Given the description of an element on the screen output the (x, y) to click on. 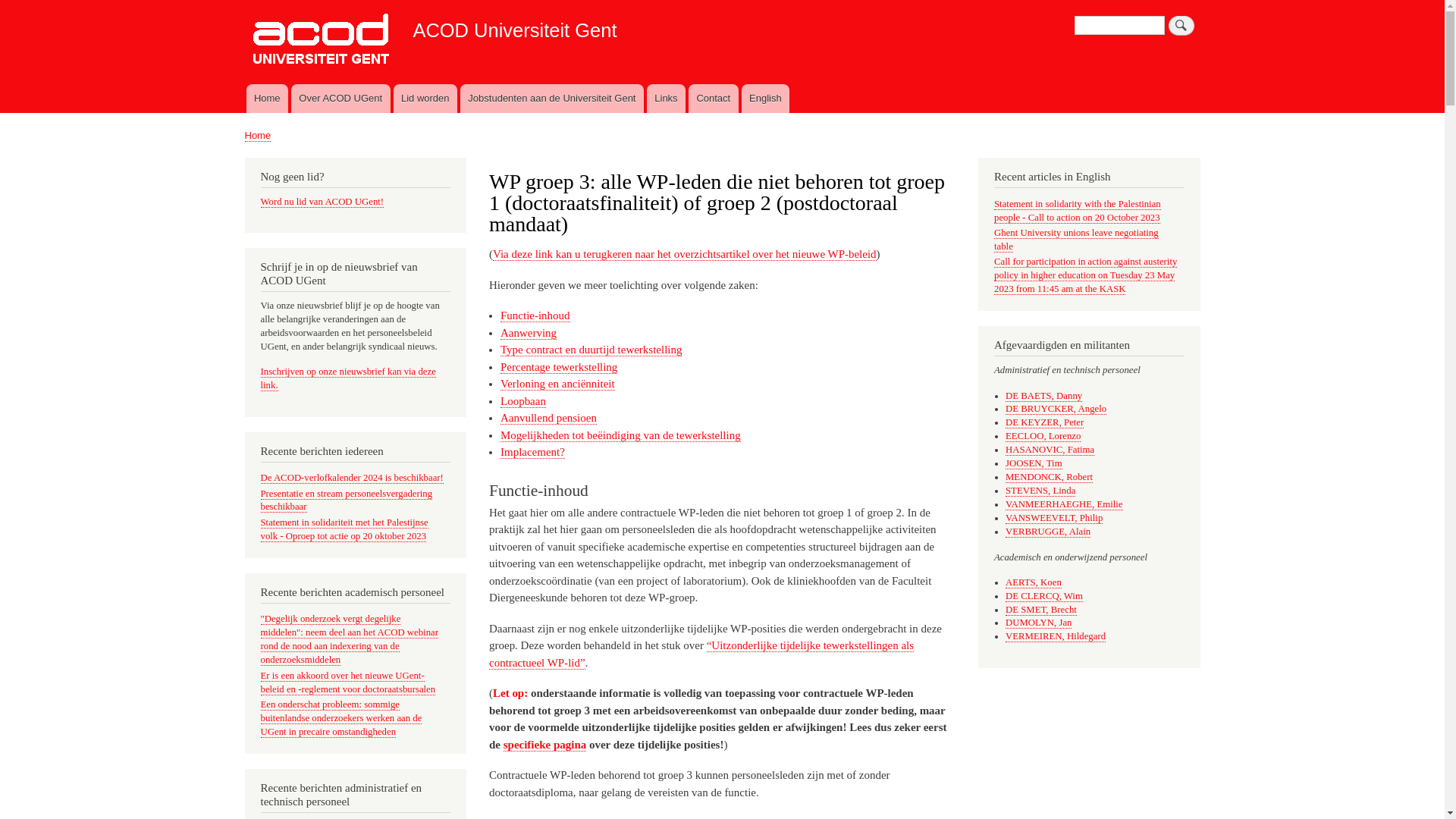
JOOSEN, Tim Element type: text (1033, 463)
VANSWEEVELT, Philip Element type: text (1053, 518)
VANMEERHAEGHE, Emilie Element type: text (1064, 504)
English Element type: text (765, 98)
De ACOD-verlofkalender 2024 is beschikbaar! Element type: text (351, 477)
Enter the terms you wish to search for. Element type: hover (1119, 24)
DE SMET, Brecht Element type: text (1040, 609)
Jobstudenten aan de Universiteit Gent Element type: text (551, 98)
Home Element type: text (266, 98)
ACOD Universiteit Gent Element type: text (514, 29)
HASANOVIC, Fatima Element type: text (1049, 449)
Lid worden Element type: text (425, 98)
Functie-inhoud Element type: text (535, 315)
Inschrijven op onze nieuwsbrief kan via deze link. Element type: text (348, 378)
specifieke pagina Element type: text (544, 744)
Ghent University unions leave negotiating table Element type: text (1076, 239)
Skip to main content Element type: text (722, 1)
Loopbaan Element type: text (523, 401)
Links Element type: text (665, 98)
Search Element type: text (1181, 25)
AERTS, Koen Element type: text (1033, 582)
DE CLERCQ, Wim Element type: text (1043, 596)
DE BRUYCKER, Angelo Element type: text (1055, 408)
EECLOO, Lorenzo Element type: text (1042, 436)
Type contract en duurtijd tewerkstelling Element type: text (590, 349)
Aanvullend pensioen Element type: text (548, 417)
Home Element type: text (257, 135)
Percentage tewerkstelling Element type: text (558, 366)
STEVENS, Linda Element type: text (1040, 490)
VERBRUGGE, Alain Element type: text (1047, 531)
DE KEYZER, Peter Element type: text (1044, 422)
Implacement? Element type: text (532, 451)
Presentatie en stream personeelsvergadering beschikbaar Element type: text (346, 500)
MENDONCK, Robert Element type: text (1048, 477)
Over ACOD UGent Element type: text (340, 98)
VERMEIREN, Hildegard Element type: text (1055, 636)
DUMOLYN, Jan Element type: text (1038, 622)
Word nu lid van ACOD UGent! Element type: text (322, 201)
DE BAETS, Danny Element type: text (1043, 395)
Contact Element type: text (713, 98)
Aanwerving Element type: text (528, 332)
